Given the description of an element on the screen output the (x, y) to click on. 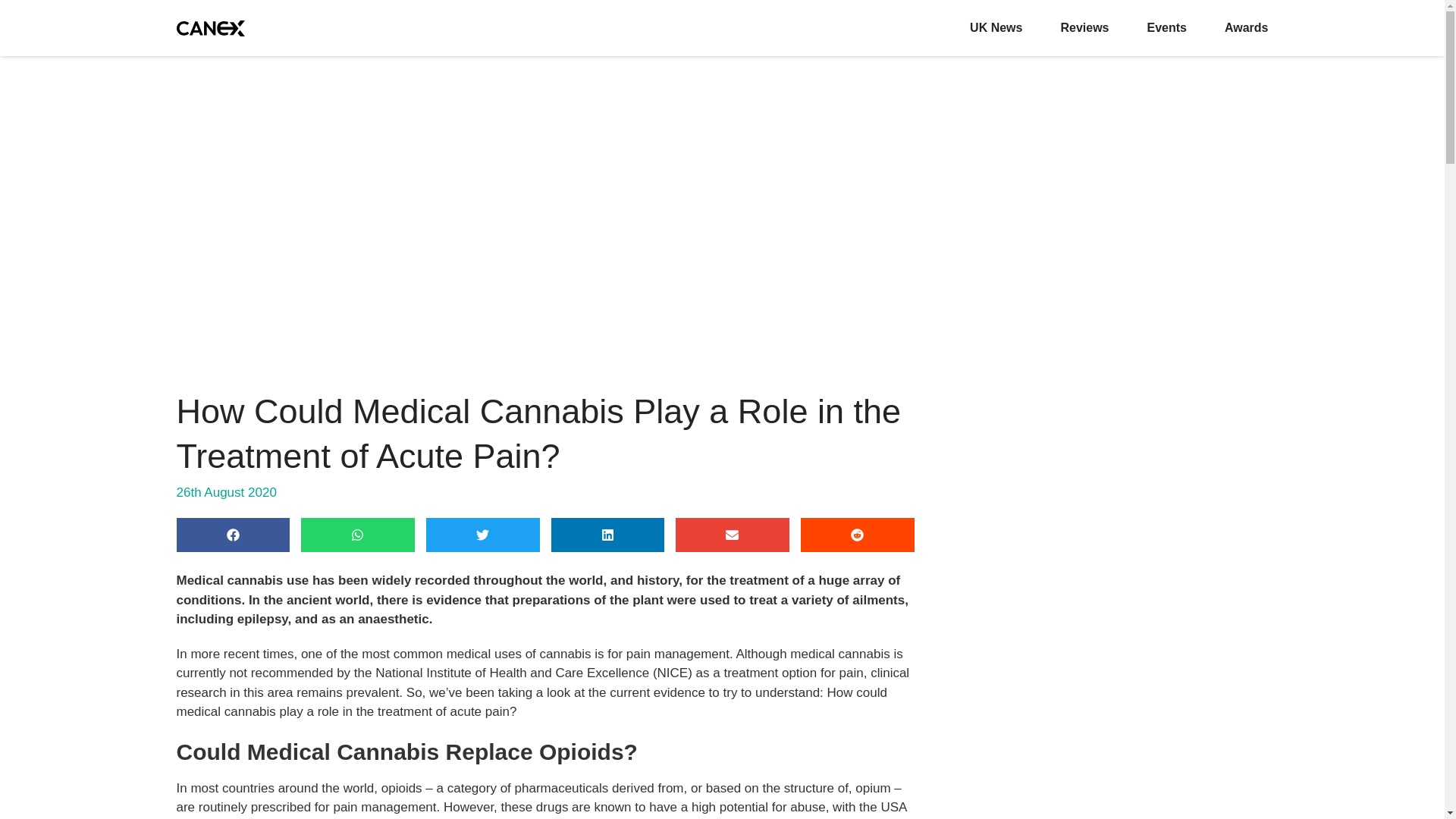
Awards (1246, 27)
Events (1166, 27)
Reviews (1083, 27)
UK News (995, 27)
